Given the description of an element on the screen output the (x, y) to click on. 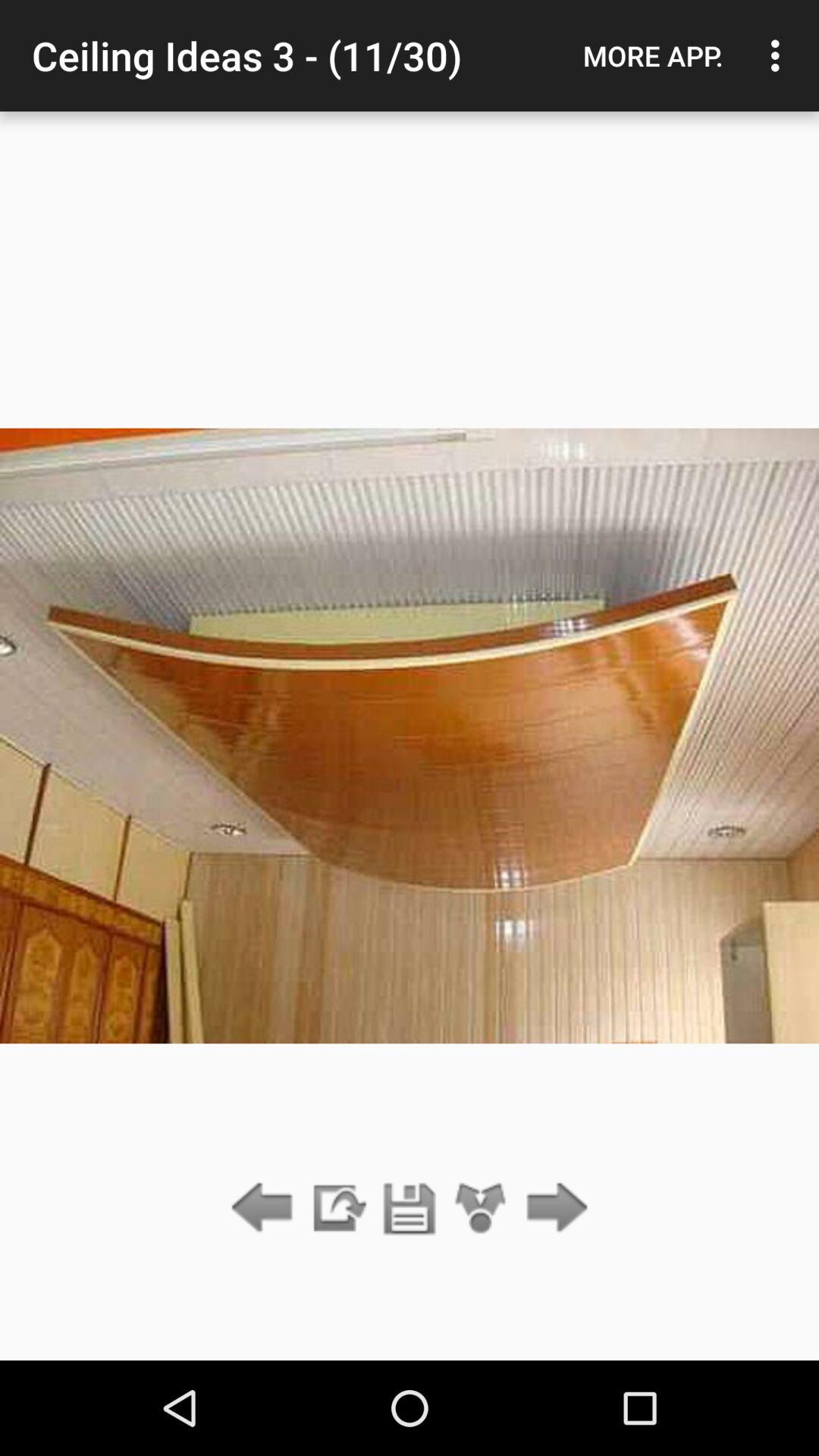
download (337, 1208)
